Given the description of an element on the screen output the (x, y) to click on. 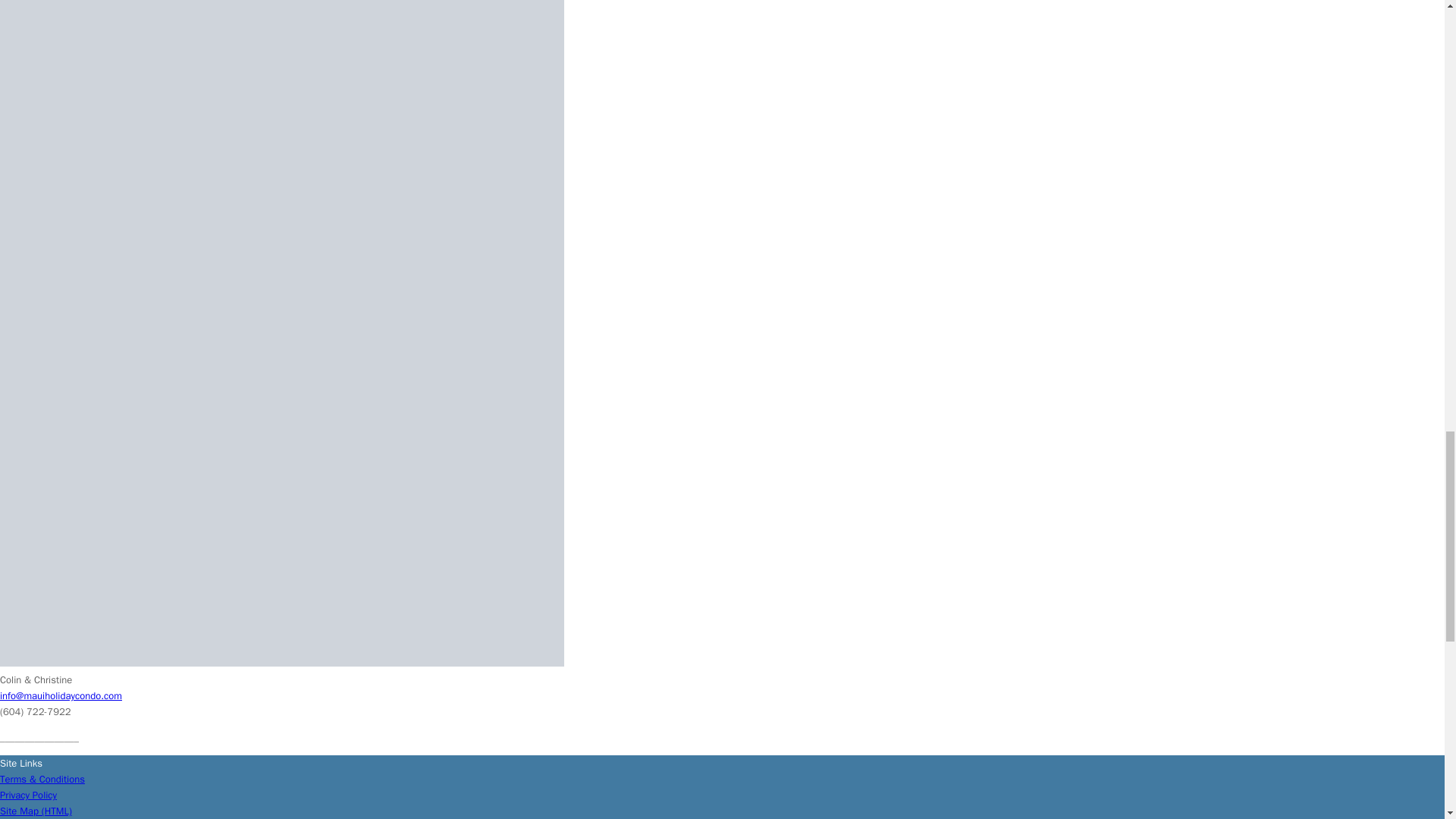
Privacy Policy (28, 794)
